Given the description of an element on the screen output the (x, y) to click on. 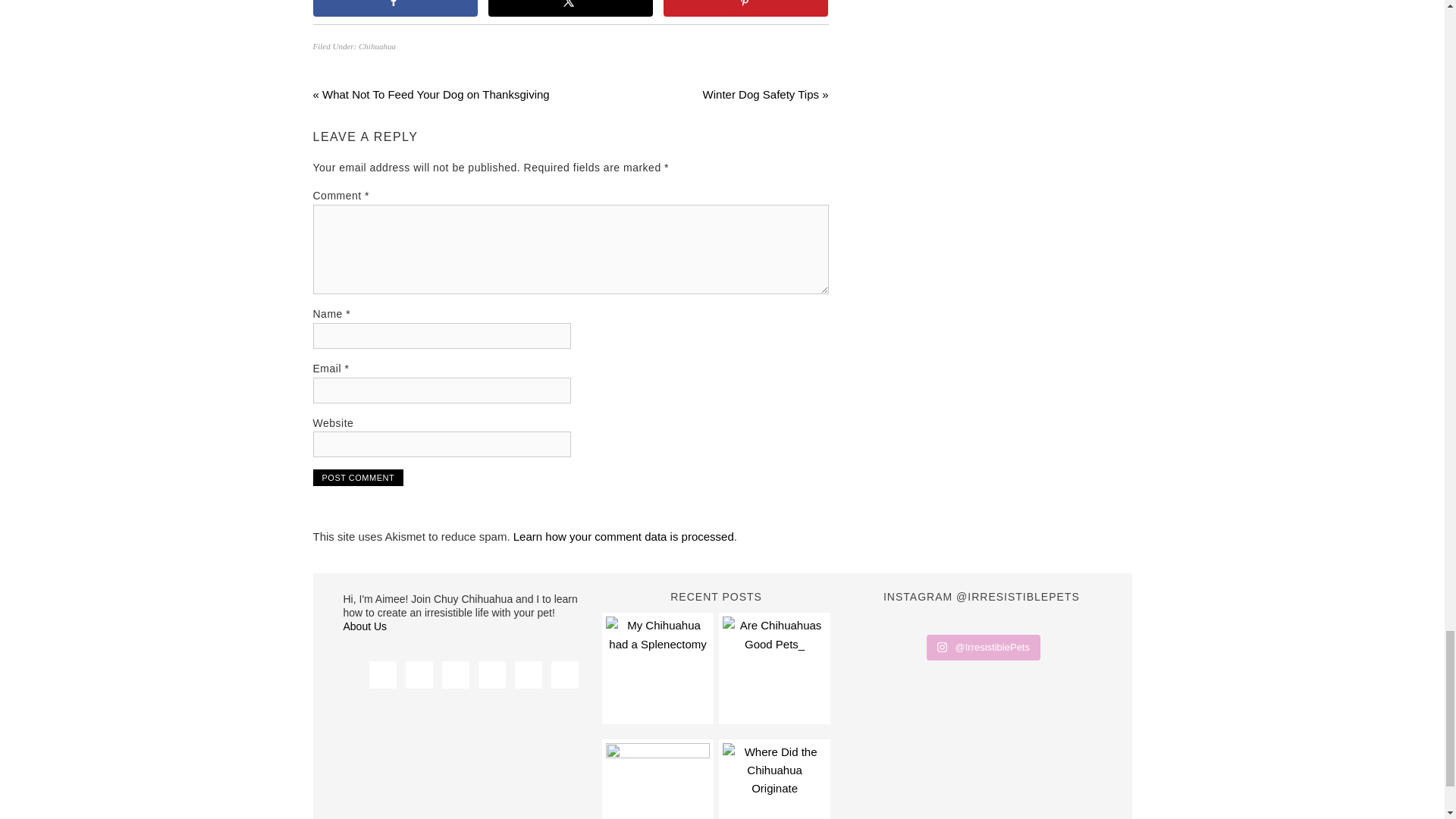
Where Did the Chihuahua Originate? (773, 780)
Share on Facebook (395, 8)
Post Comment (358, 477)
Save to Pinterest (745, 8)
Post Comment (358, 477)
Chihuahua (377, 45)
Share on X (570, 8)
Are Chihuahuas Good Pets? (773, 667)
My Chihuahua Had a Splenectomy (657, 667)
